Given the description of an element on the screen output the (x, y) to click on. 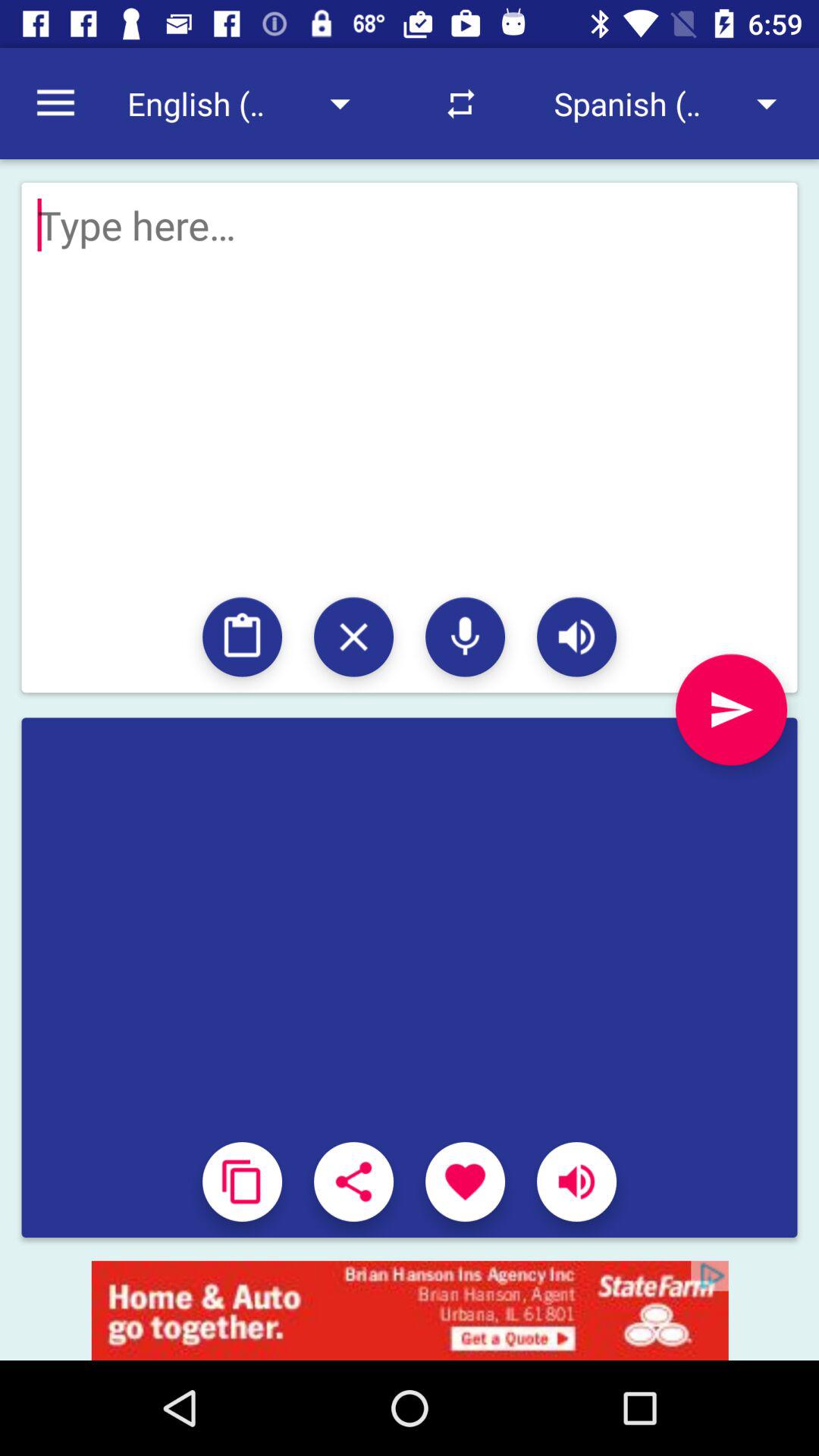
open advertisement (409, 1310)
